Given the description of an element on the screen output the (x, y) to click on. 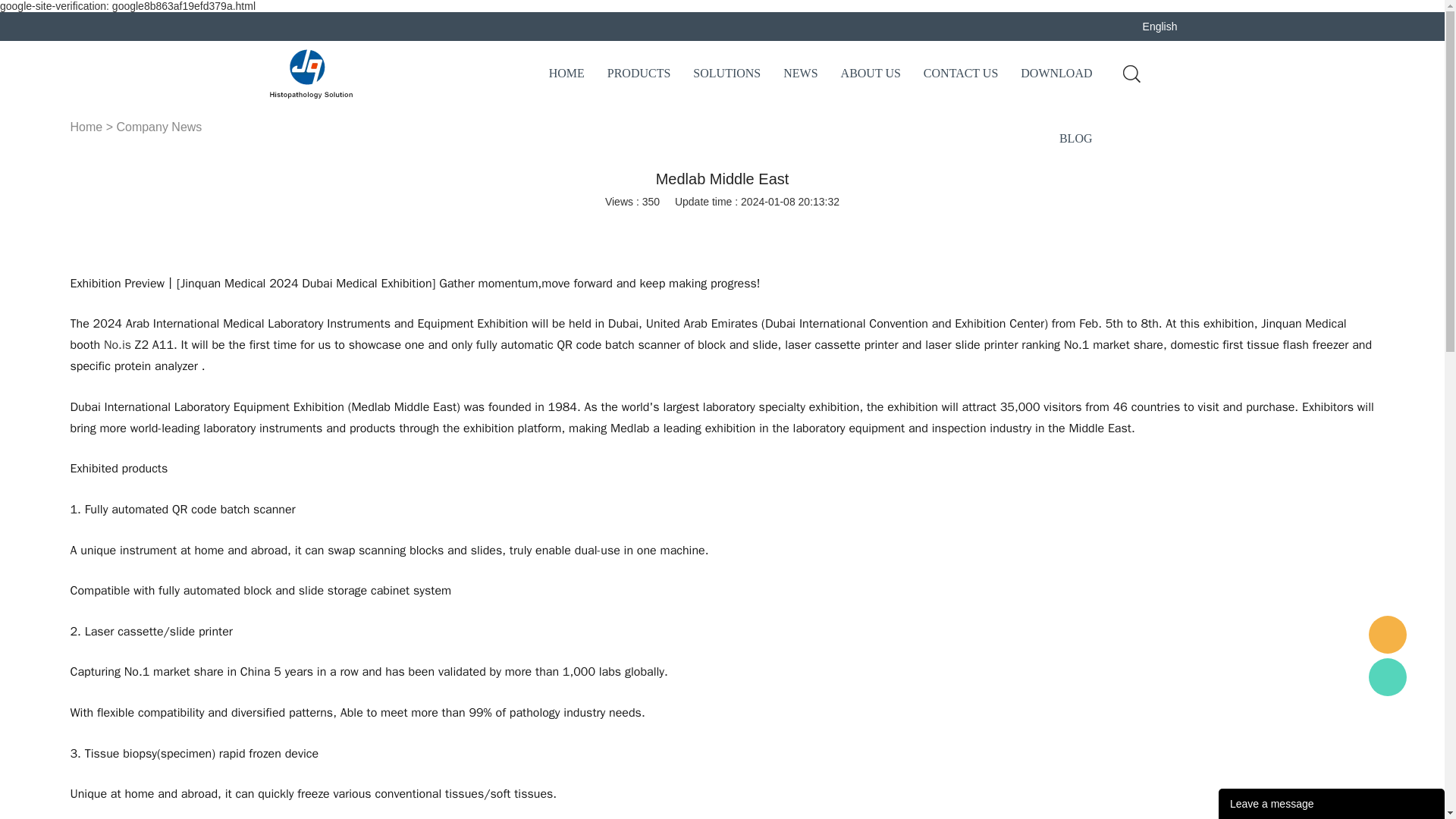
Products (639, 73)
Solutions (726, 73)
